Given the description of an element on the screen output the (x, y) to click on. 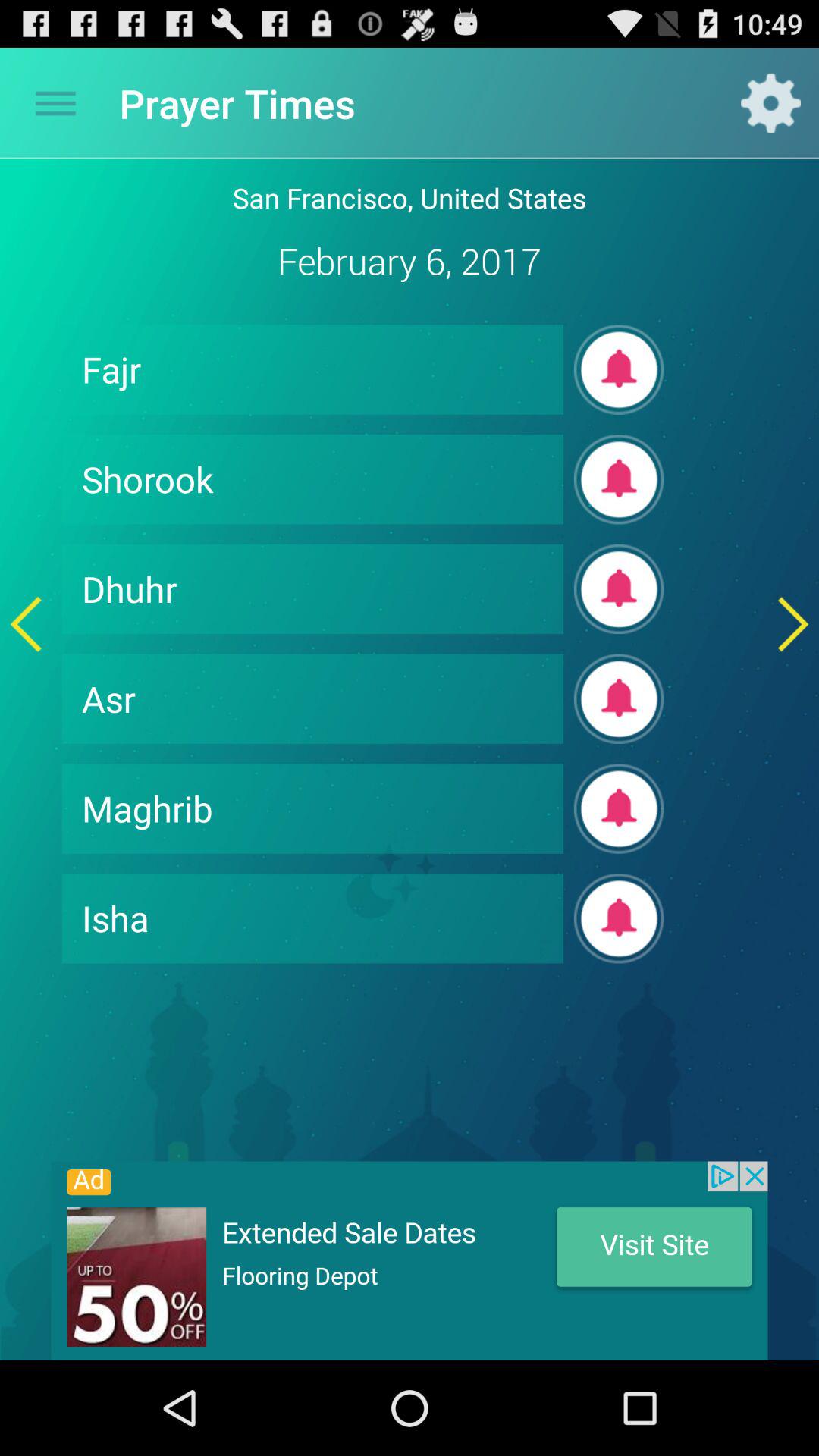
get notification (618, 369)
